Given the description of an element on the screen output the (x, y) to click on. 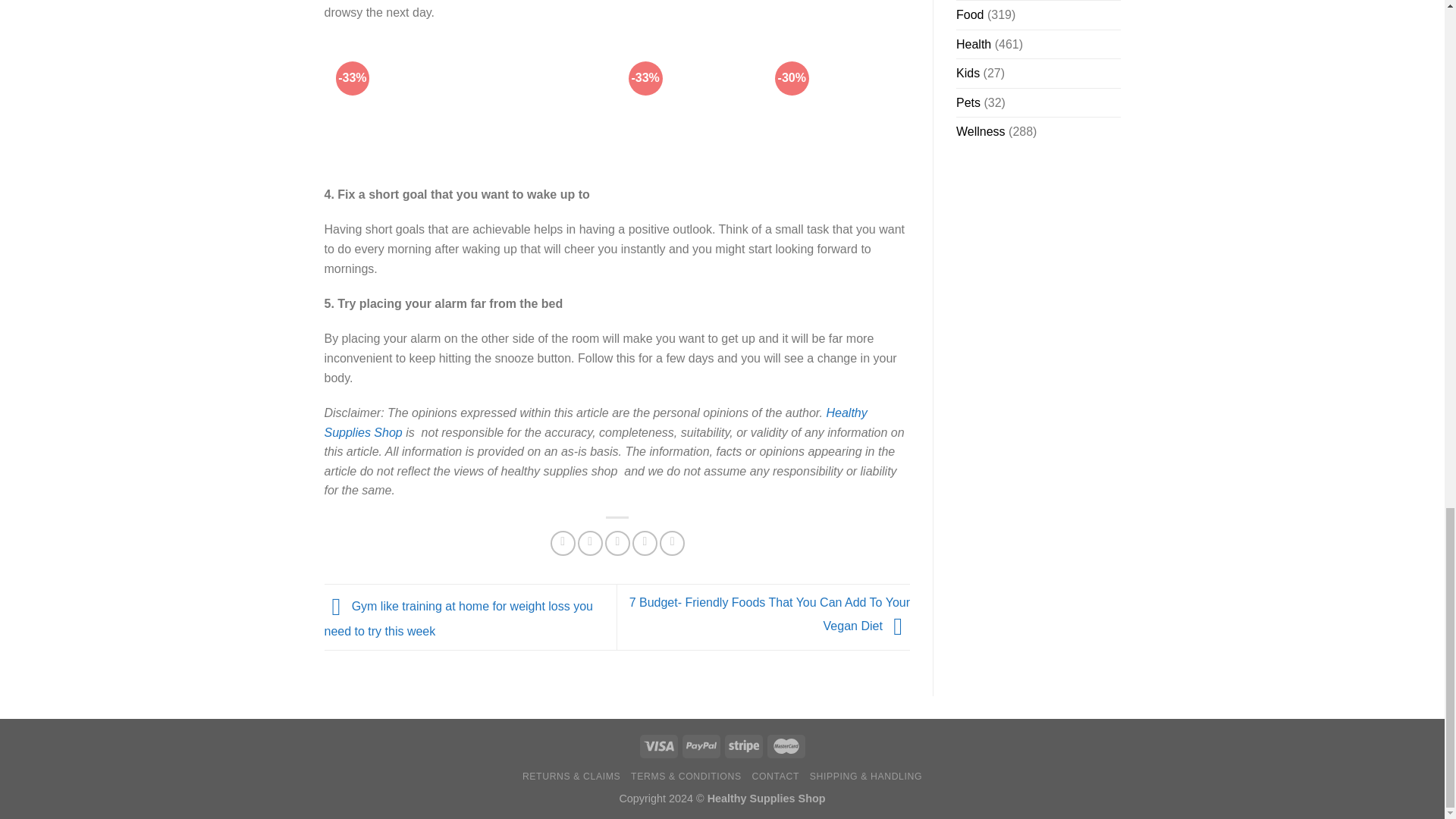
Email to a Friend (617, 543)
Share on LinkedIn (671, 543)
Pin on Pinterest (644, 543)
Share on Twitter (590, 543)
Share on Facebook (562, 543)
